Given the description of an element on the screen output the (x, y) to click on. 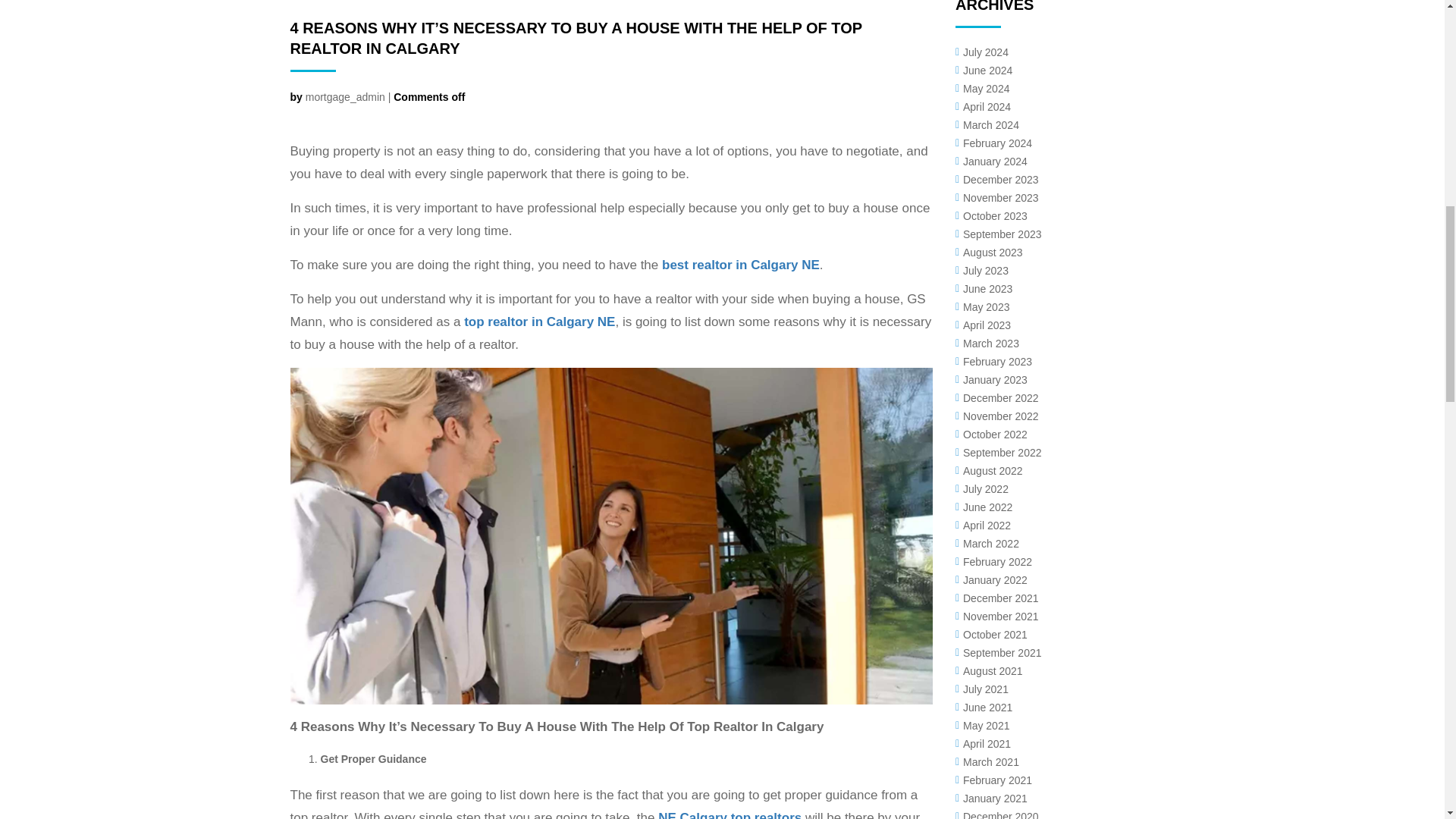
best realtor in Calgary NE (740, 264)
